Given the description of an element on the screen output the (x, y) to click on. 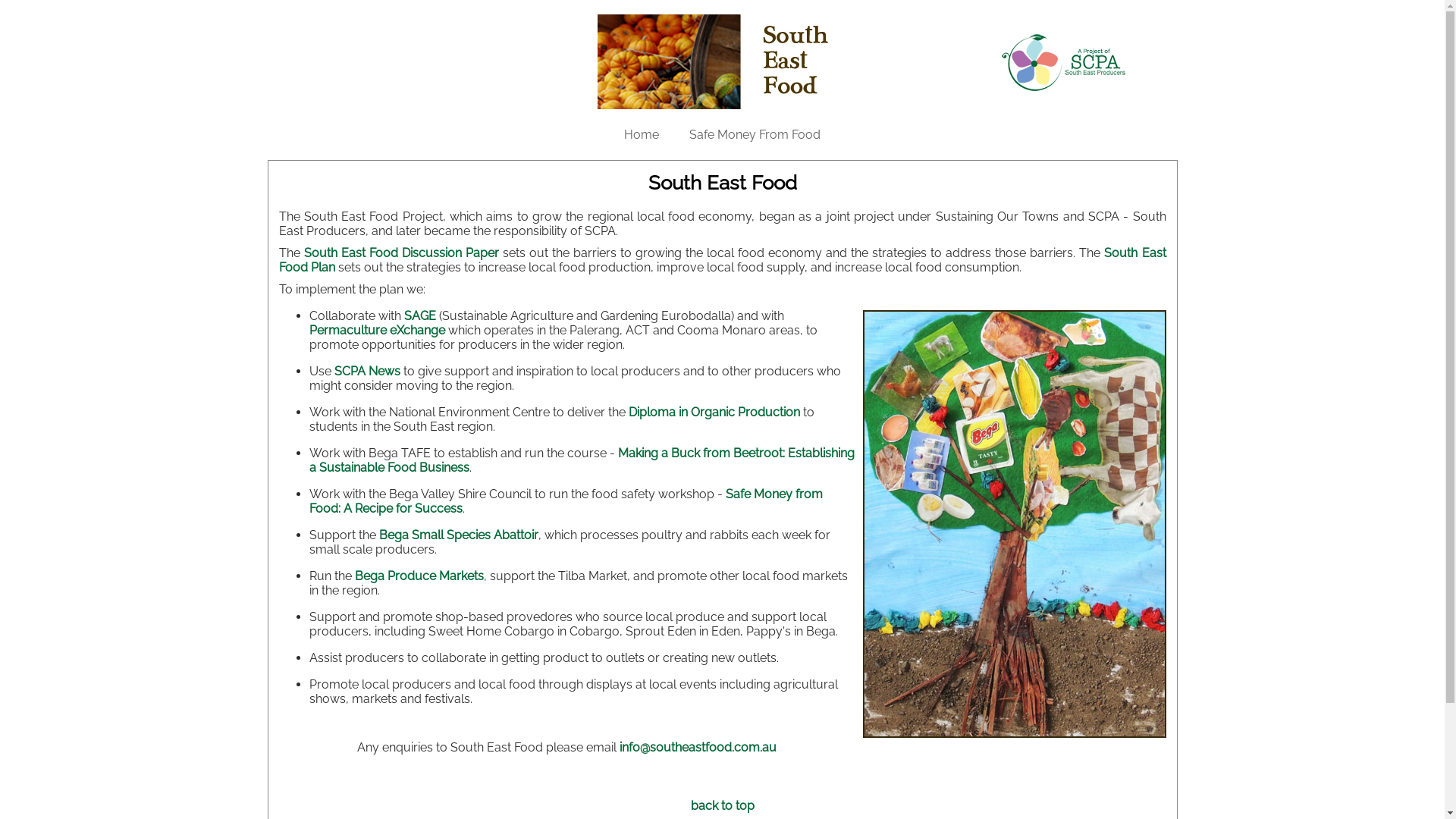
Safe Money From Food Element type: text (754, 10)
SAGE Element type: text (419, 315)
South East Food Home Page South East Food Element type: hover (1063, 61)
South East Food Home Page South East Food Element type: hover (722, 61)
Home Element type: text (641, 134)
Bega Produce Markets Element type: text (418, 575)
Diploma in Organic Production Element type: text (713, 411)
South East Food Discussion Paper Element type: text (401, 252)
SCPA News Element type: text (366, 371)
Safe Money From Food Element type: text (754, 134)
South East Food Plan Element type: text (722, 259)
info@southeastfood.com.au Element type: text (697, 747)
Safe Money from Food: A Recipe for Success Element type: text (565, 500)
Bega Small Species Abattoir Element type: text (458, 534)
Permaculture eXchange Element type: text (377, 330)
back to top Element type: text (721, 805)
Home Element type: text (641, 10)
